Given the description of an element on the screen output the (x, y) to click on. 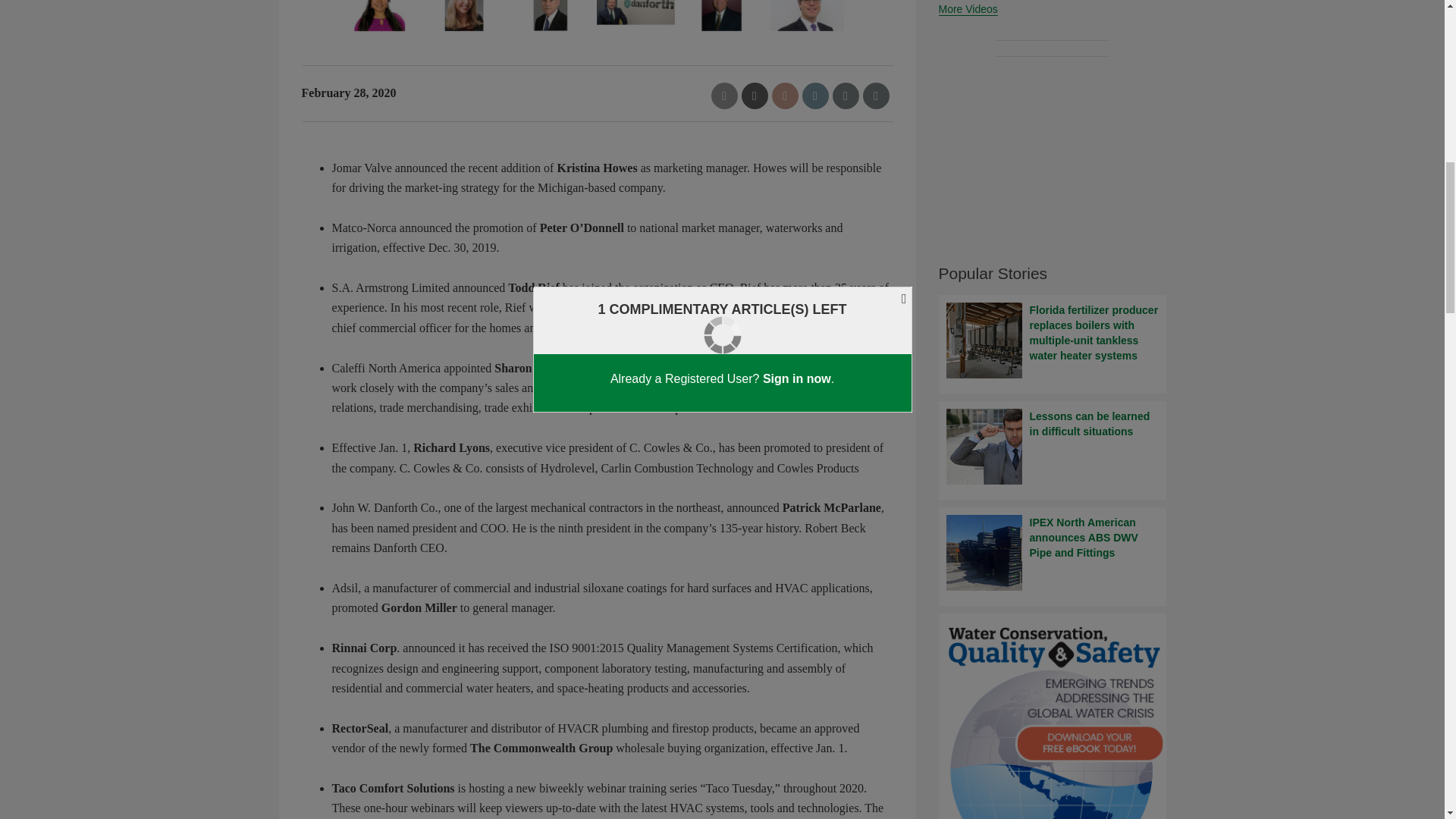
IPEX North American announces ABS DWV Pipe and Fittings (1052, 552)
Lessons can be learned in difficult situations (1052, 446)
